Given the description of an element on the screen output the (x, y) to click on. 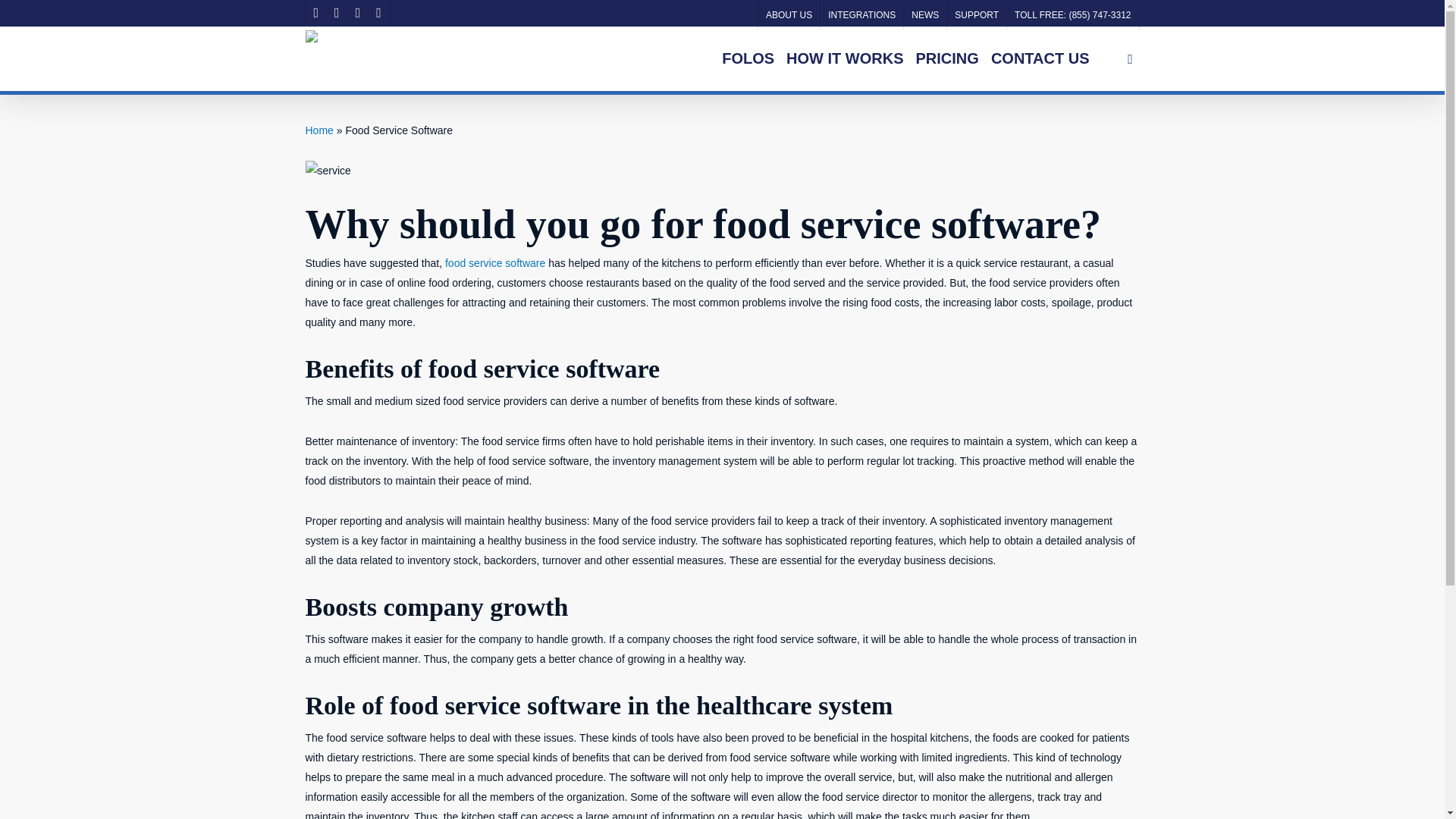
search (1129, 58)
ABOUT US (788, 15)
INTEGRATIONS (860, 15)
SUPPORT (976, 15)
NEWS (924, 15)
CONTACT US (1040, 58)
HOW IT WORKS (844, 58)
PRICING (947, 58)
Home (318, 130)
FOLOS (748, 58)
food service software (494, 263)
